Given the description of an element on the screen output the (x, y) to click on. 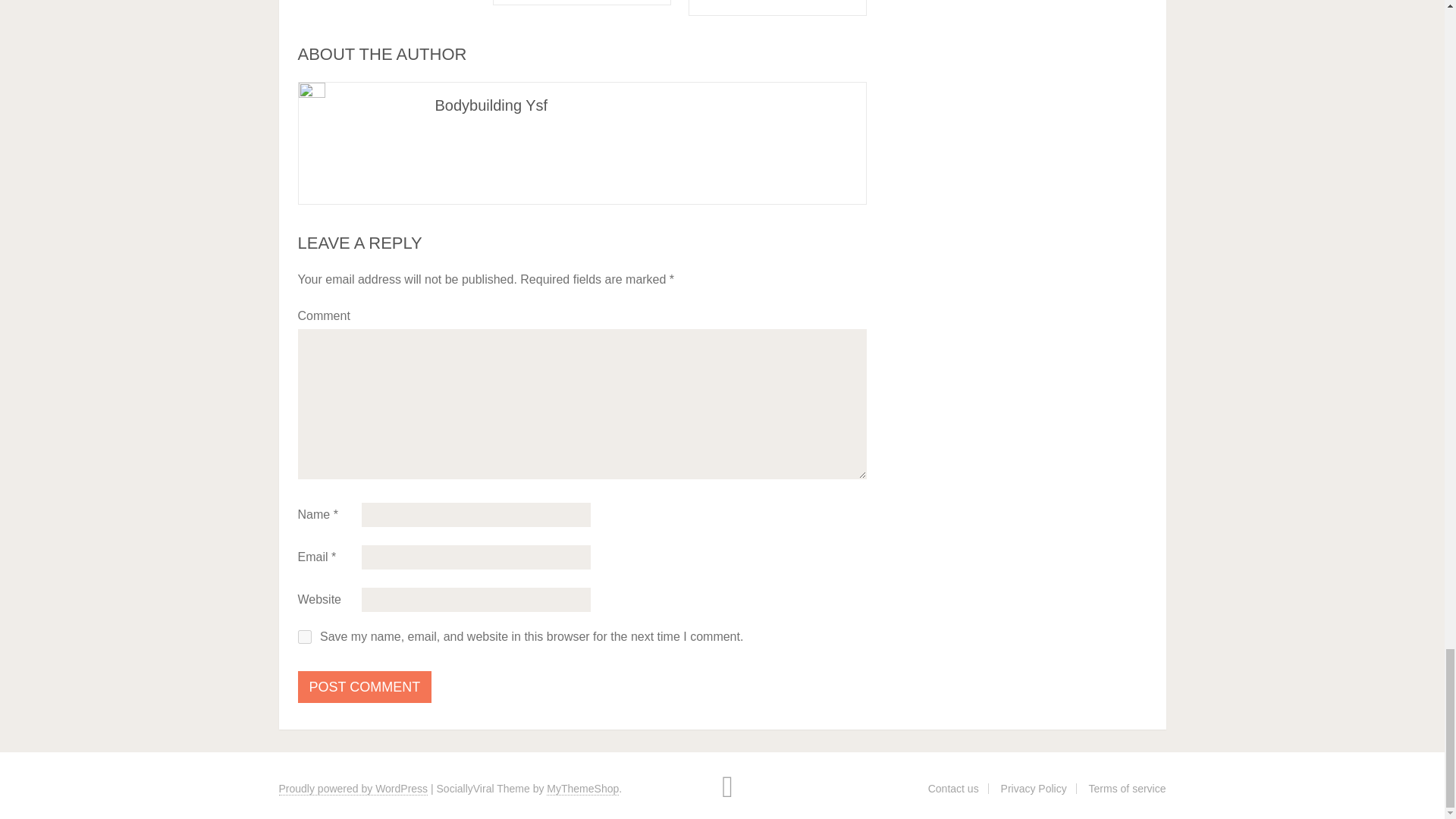
Bodybuilding Ysf (491, 105)
Post Comment (363, 686)
Proudly powered by WordPress (353, 788)
Terms of service (1127, 788)
Post Comment (363, 686)
MyThemeShop (582, 788)
yes (304, 636)
Privacy Policy (1034, 788)
Contact us (953, 788)
